Given the description of an element on the screen output the (x, y) to click on. 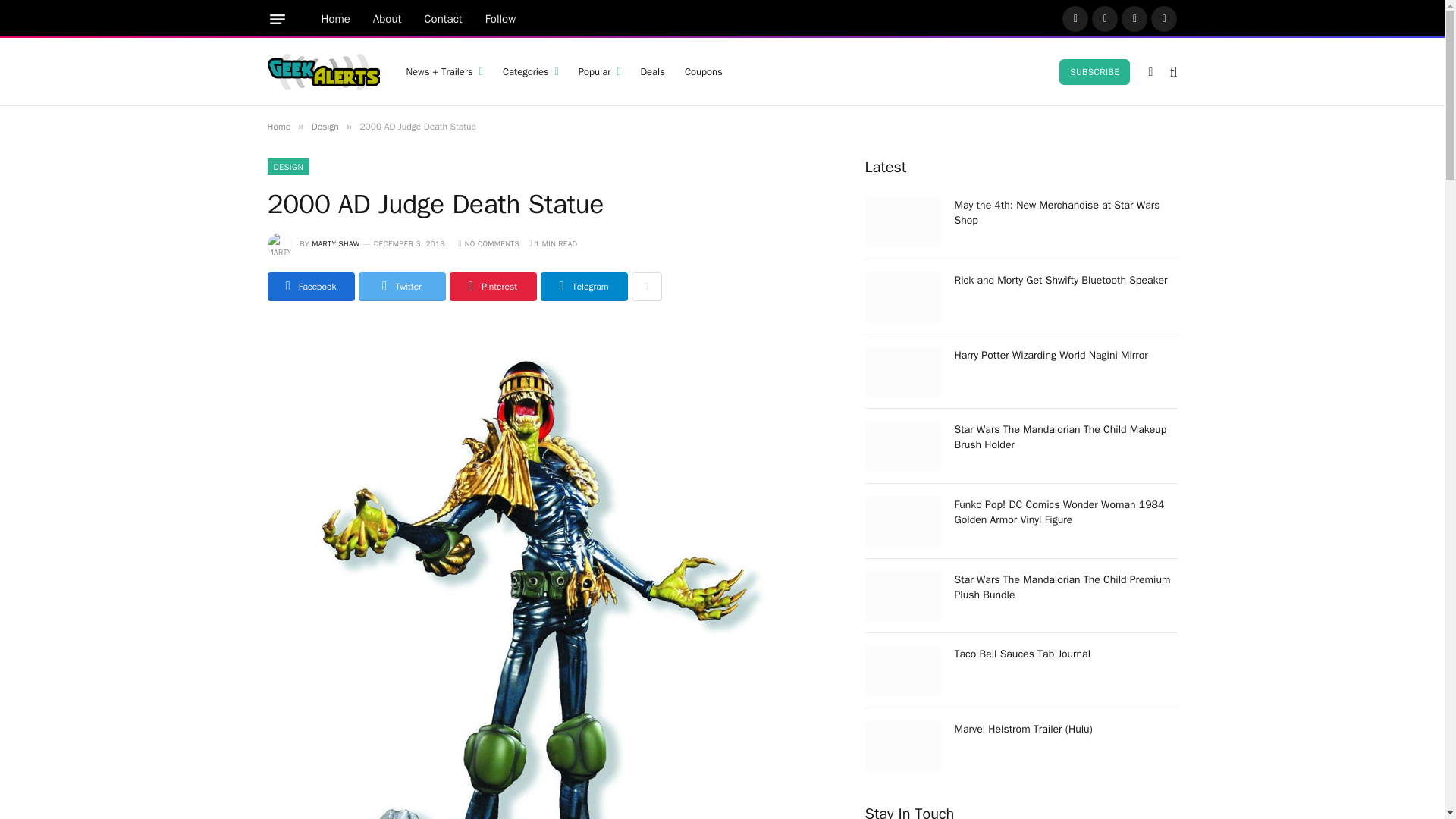
Share on Facebook (309, 286)
About (386, 19)
Pinterest (1134, 18)
RSS (1163, 18)
GeekAlerts (322, 71)
Facebook (1074, 18)
Categories (531, 71)
Posts by Marty Shaw (335, 243)
Switch to Dark Design - easier on eyes. (1149, 70)
Home (334, 19)
